Given the description of an element on the screen output the (x, y) to click on. 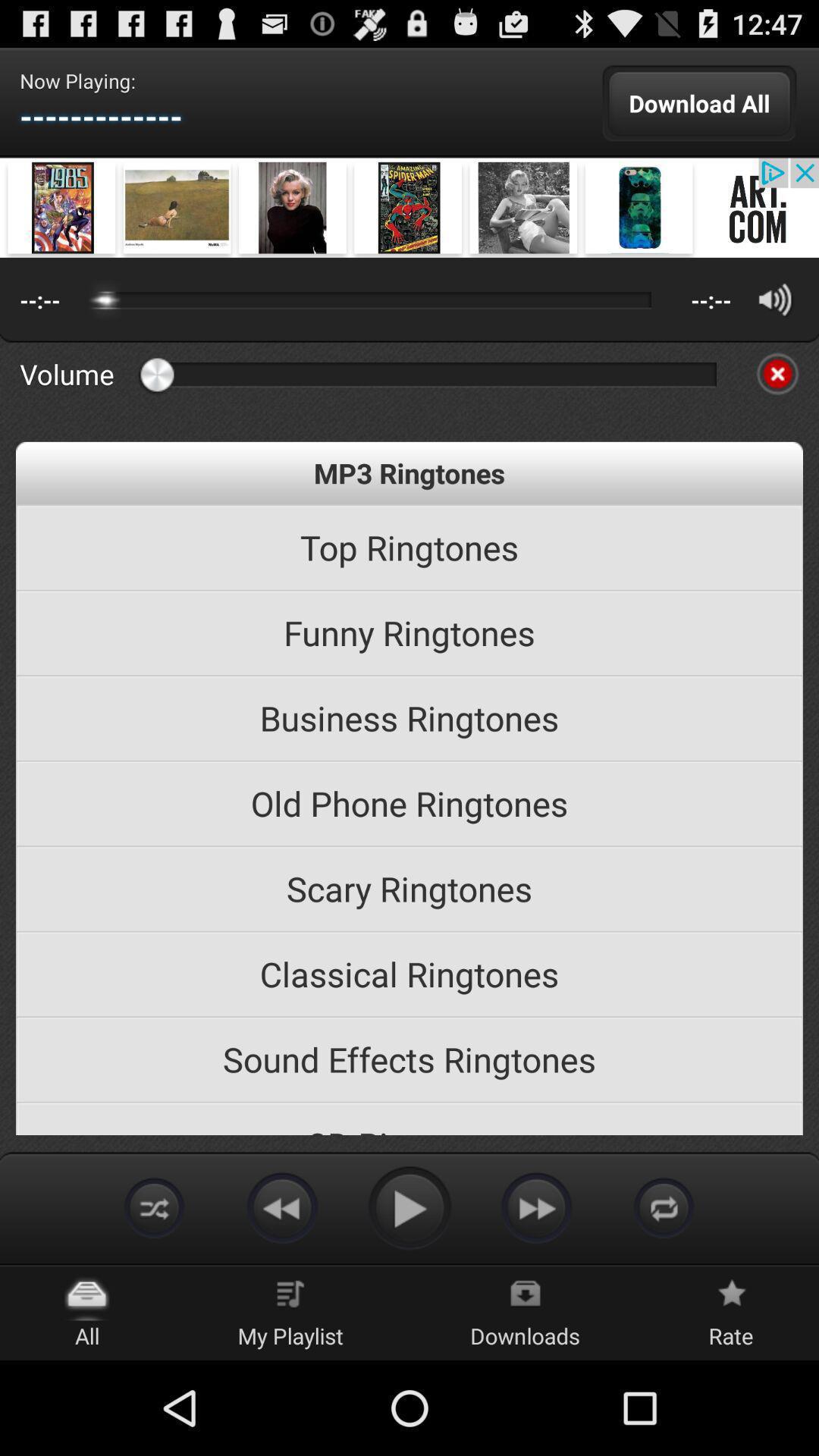
volume control (775, 299)
